Given the description of an element on the screen output the (x, y) to click on. 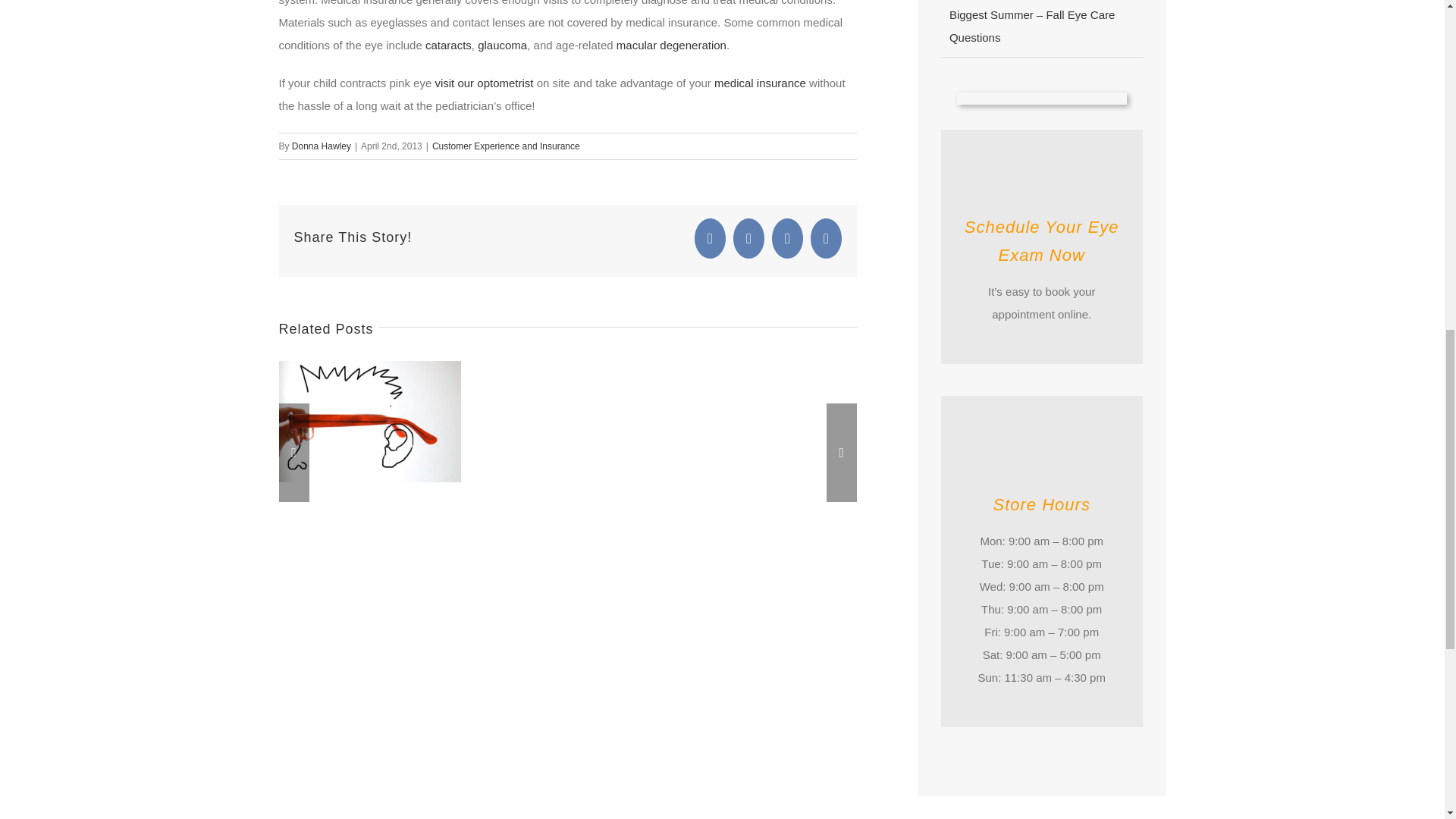
Customer Experience and Insurance (505, 145)
Macular Degeneration treatment in Maple Grove, MN (670, 44)
cataracts (448, 44)
Posts by Donna Hawley (321, 145)
macular degeneration (670, 44)
Donna Hawley (321, 145)
Cataracts treatment in Maple Grove, MN (448, 44)
medical insurance (760, 82)
Maple Grove Optometrists (482, 82)
